Given the description of an element on the screen output the (x, y) to click on. 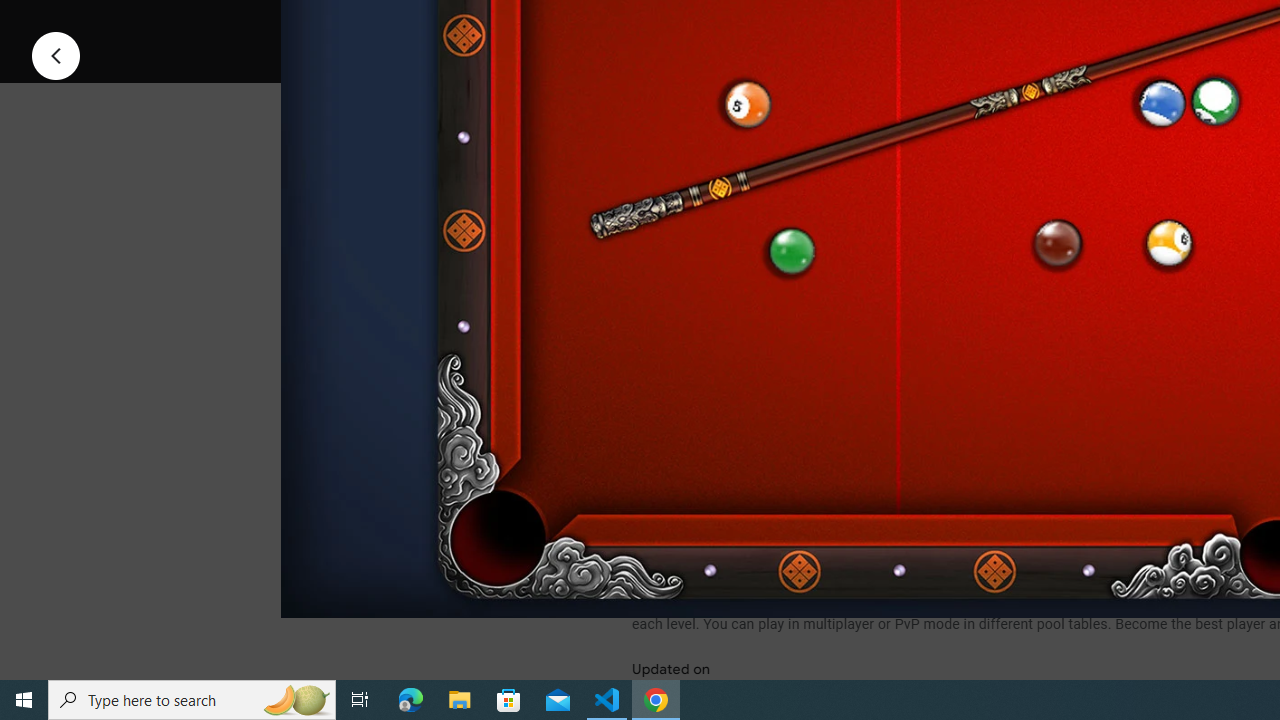
Install (732, 24)
Screenshot image (895, 271)
Share (890, 24)
See more information on About this game (830, 477)
Previous (55, 54)
Add to wishlist (1014, 24)
